Given the description of an element on the screen output the (x, y) to click on. 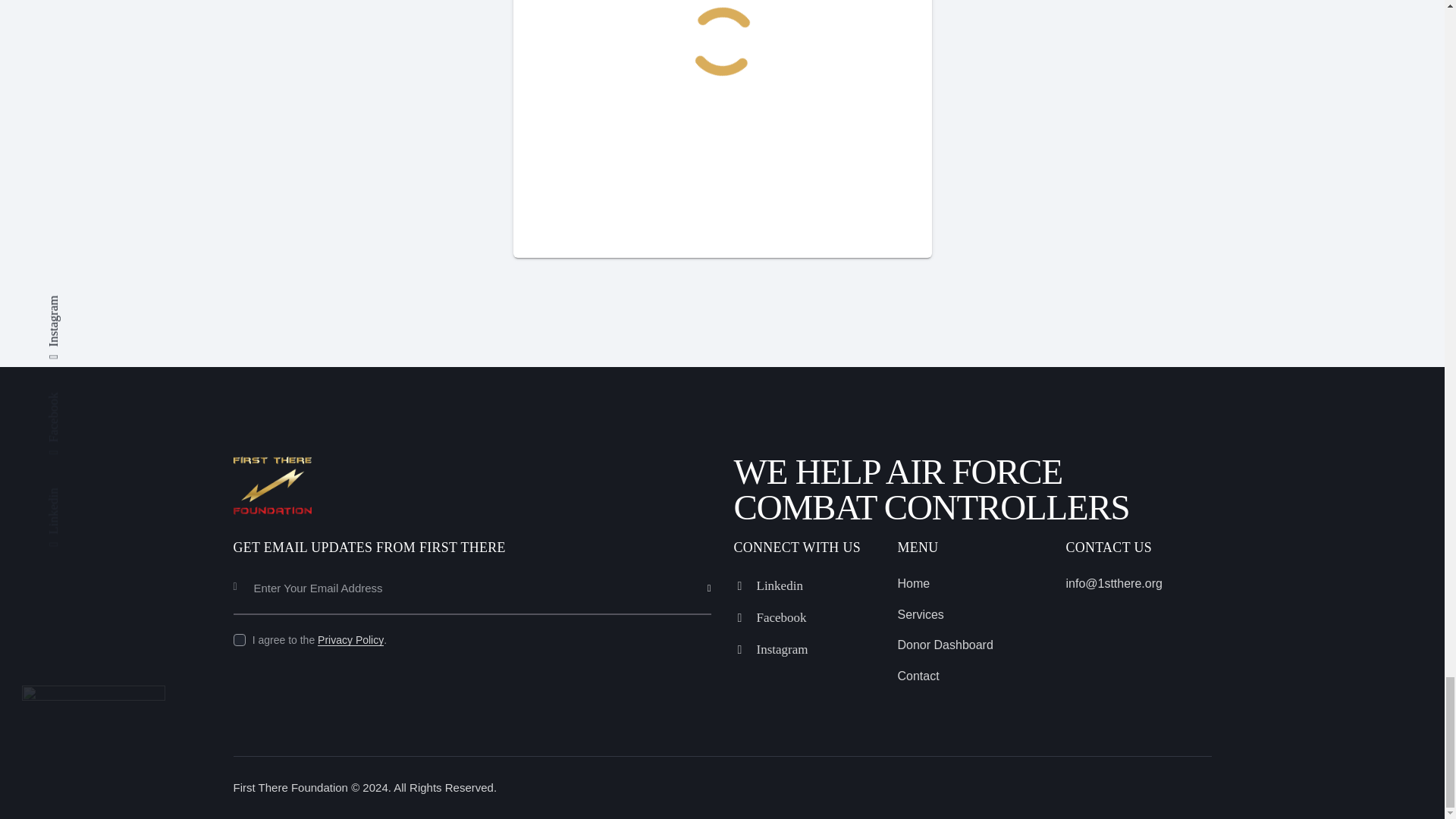
1 (715, 566)
